Given the description of an element on the screen output the (x, y) to click on. 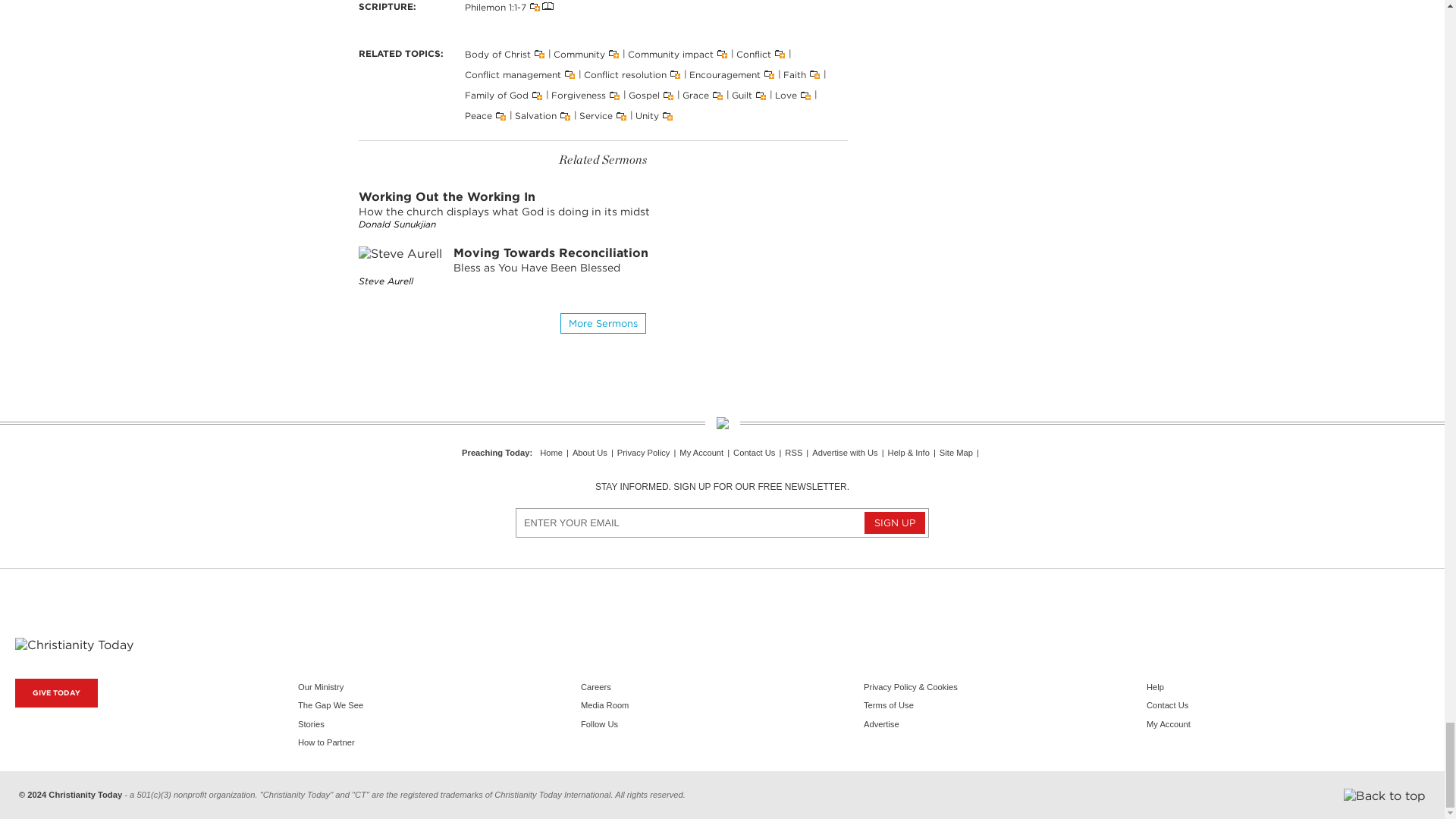
View this passage (547, 6)
Sign Up (894, 522)
You must be logged in to use this feature (532, 6)
Save This Topic (612, 53)
Save This Topic (533, 7)
Save This Topic (538, 53)
